Given the description of an element on the screen output the (x, y) to click on. 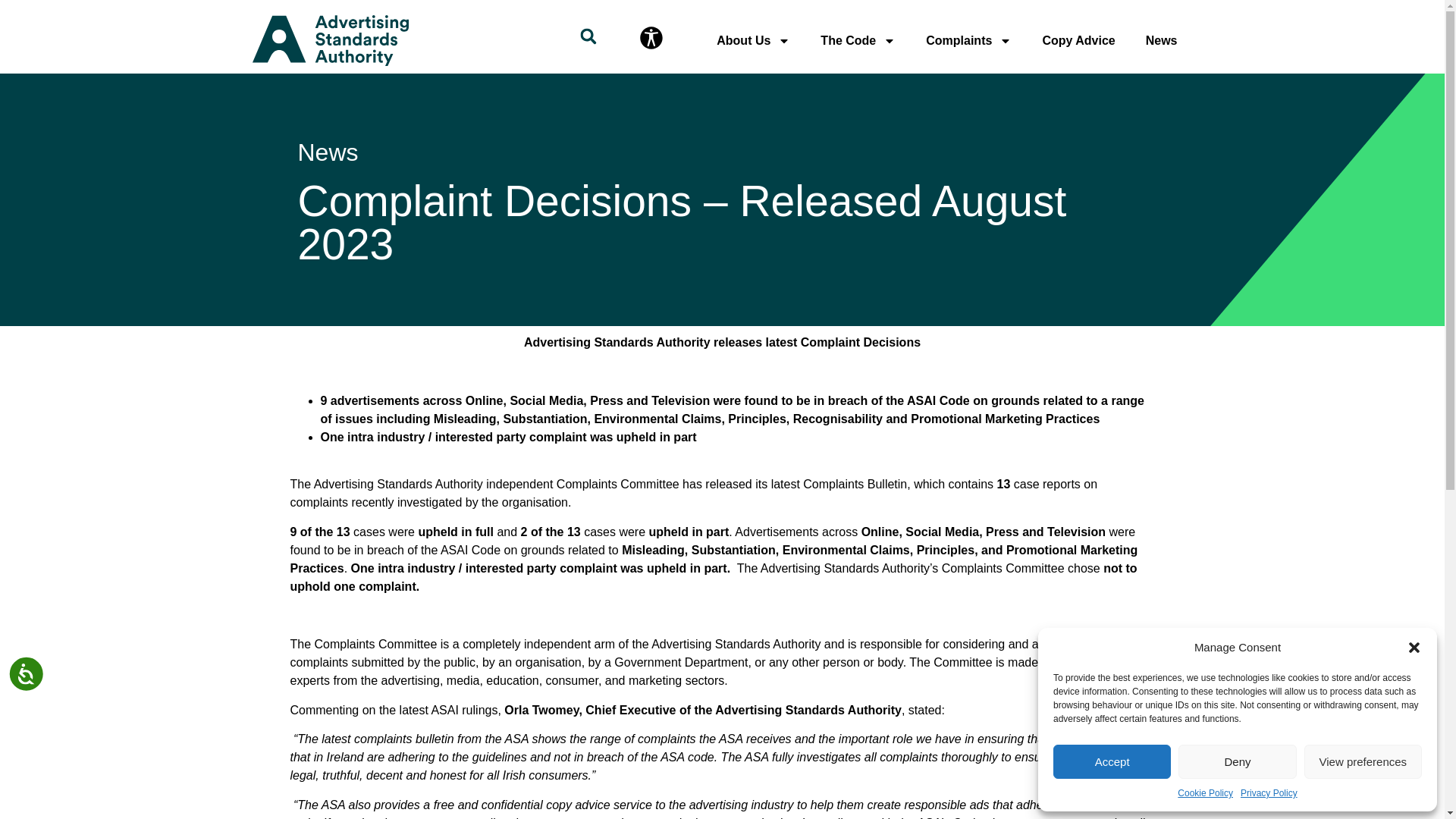
Privacy Policy (1268, 793)
The Code (858, 39)
Copy Advice (1077, 39)
Cookie Policy (1205, 793)
News (1161, 39)
Complaints (968, 39)
About Us (753, 39)
Deny (1236, 761)
View preferences (1363, 761)
Accept (1111, 761)
